Given the description of an element on the screen output the (x, y) to click on. 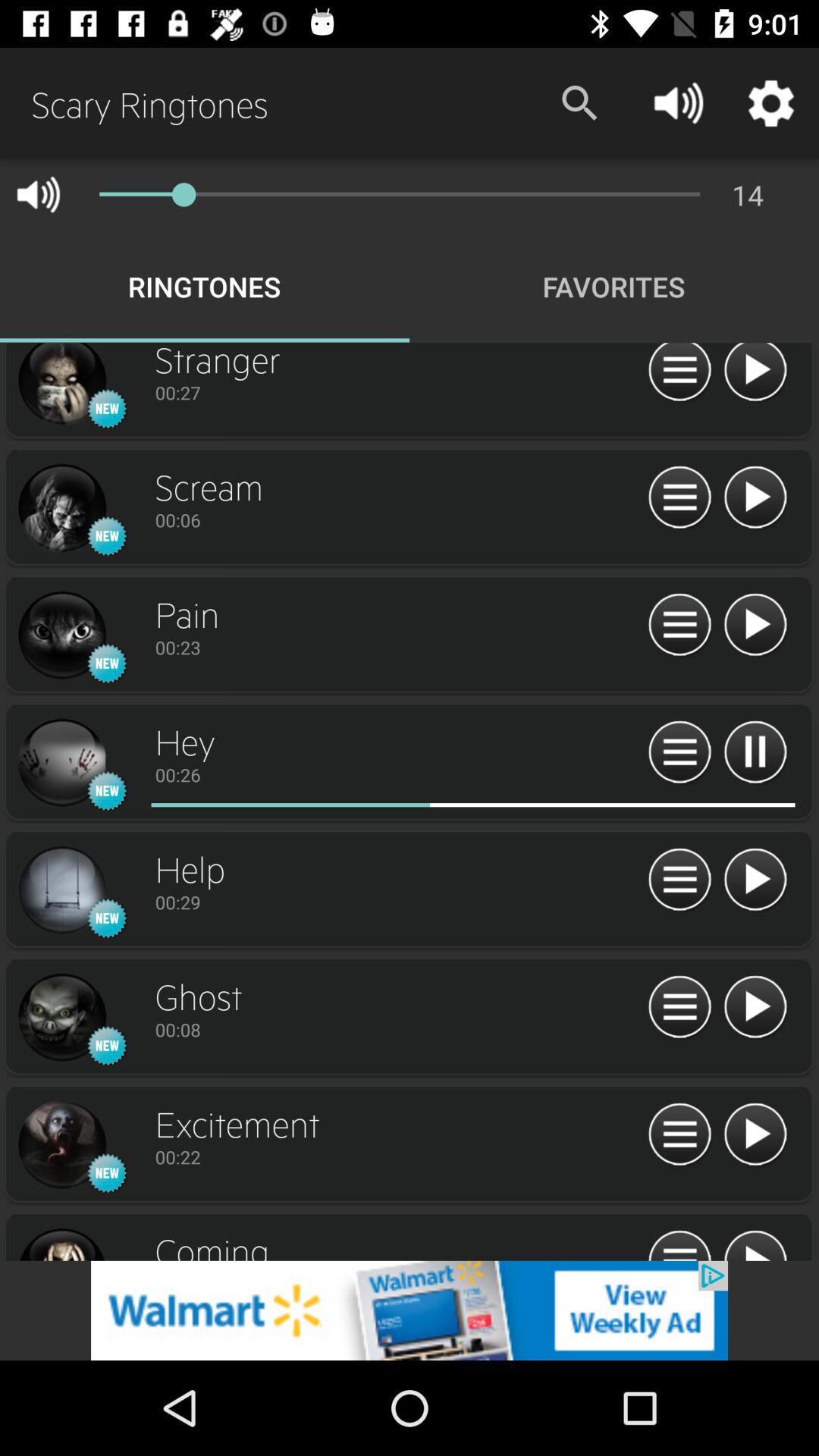
song details (679, 1135)
